Given the description of an element on the screen output the (x, y) to click on. 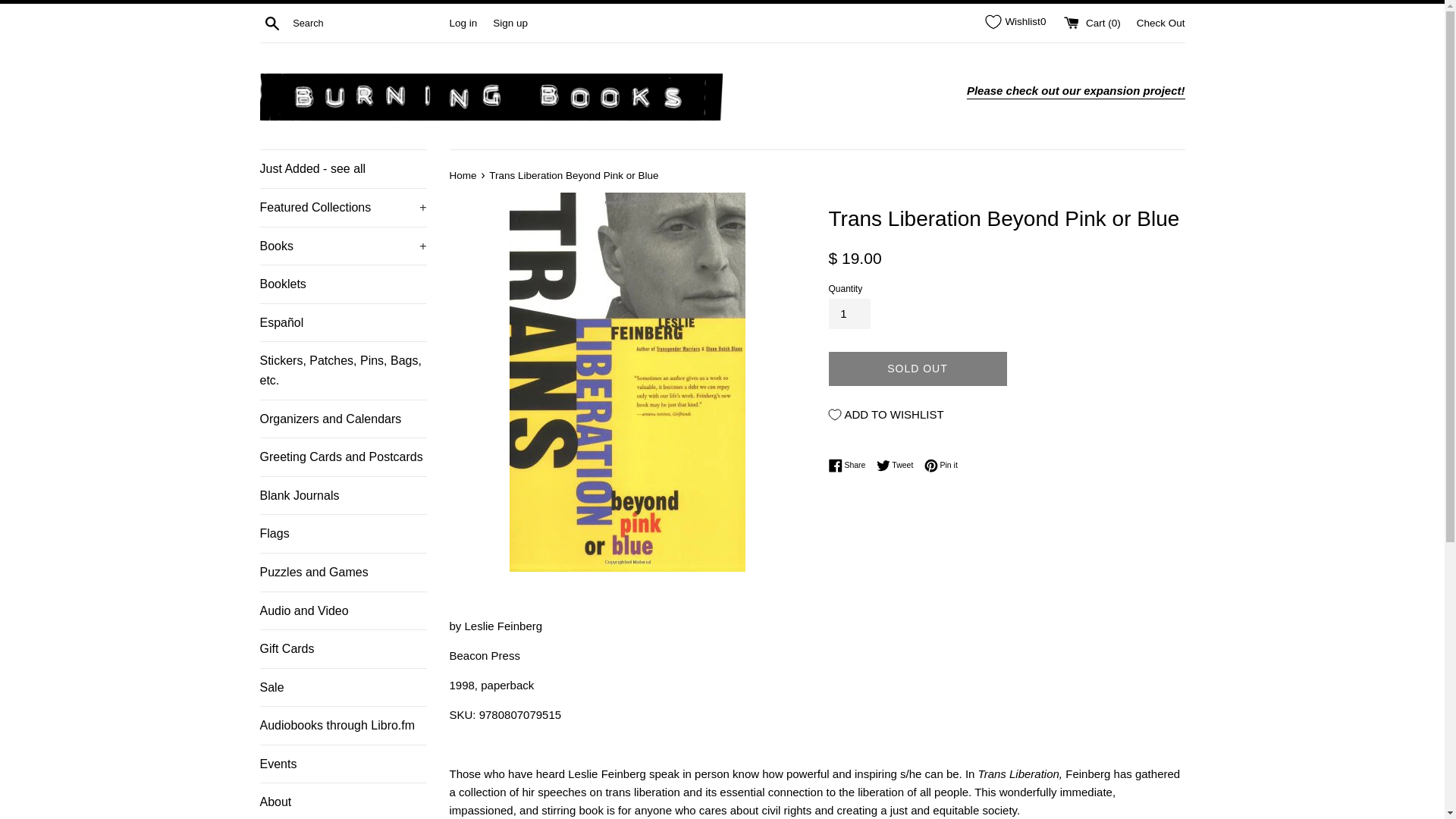
Just Added - see all (342, 168)
Tweet on Twitter (898, 465)
Add to Wishlist (885, 414)
Booklets (342, 284)
Search (271, 21)
1 (848, 313)
Pin on Pinterest (941, 465)
Log in (462, 21)
Share on Facebook (850, 465)
Check Out (1161, 21)
View Wishlist (1015, 21)
Please check out our expansion project! (1075, 91)
Sign up (510, 21)
Back to the frontpage (463, 174)
